Given the description of an element on the screen output the (x, y) to click on. 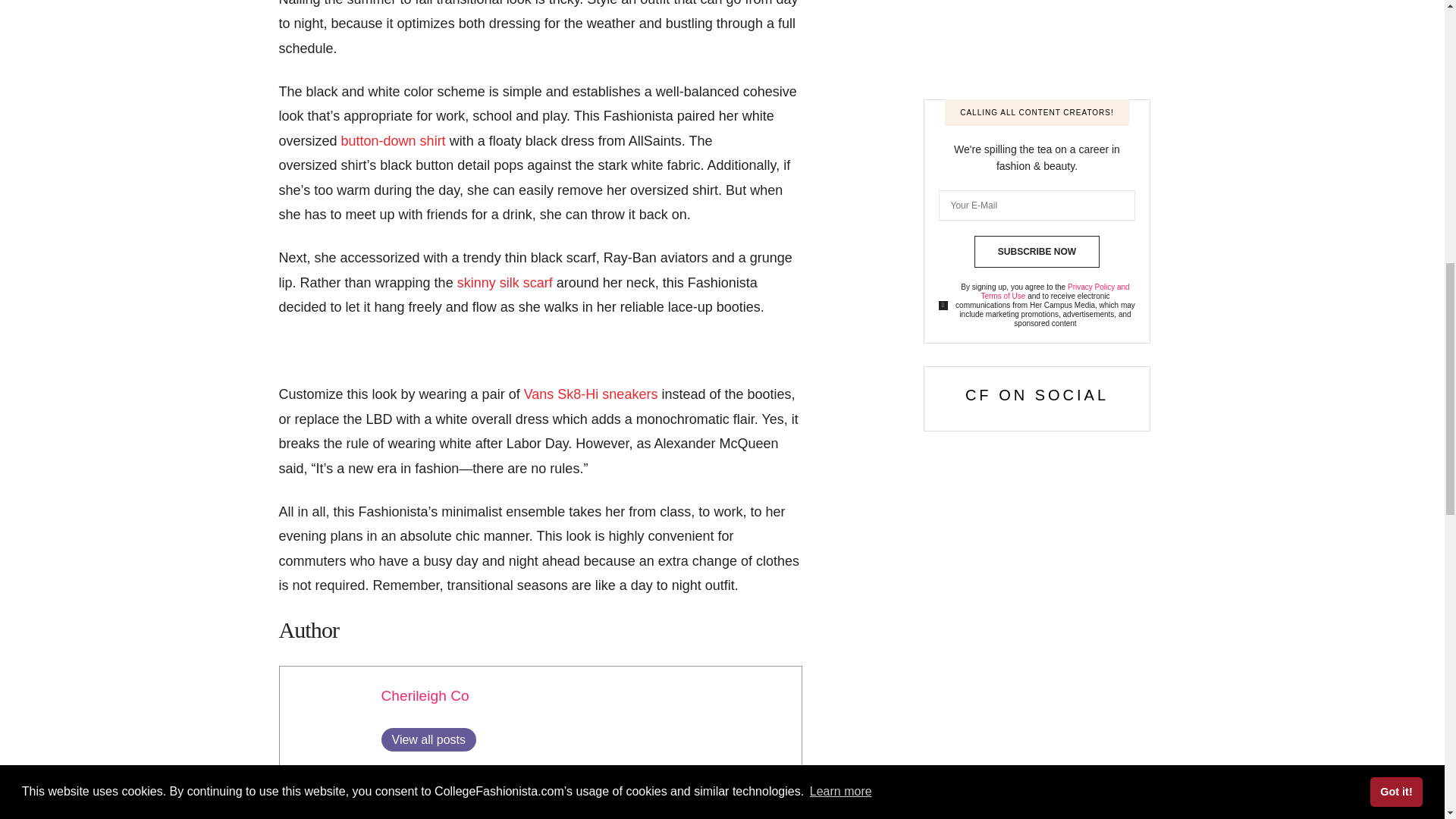
View all posts (428, 739)
WHAT TO WEAR: Day to Night 3 (327, 714)
Vans Sk8-Hi sneakers (593, 394)
Cherileigh Co (424, 695)
button-down shirt (392, 140)
skinny silk scarf (505, 282)
